Given the description of an element on the screen output the (x, y) to click on. 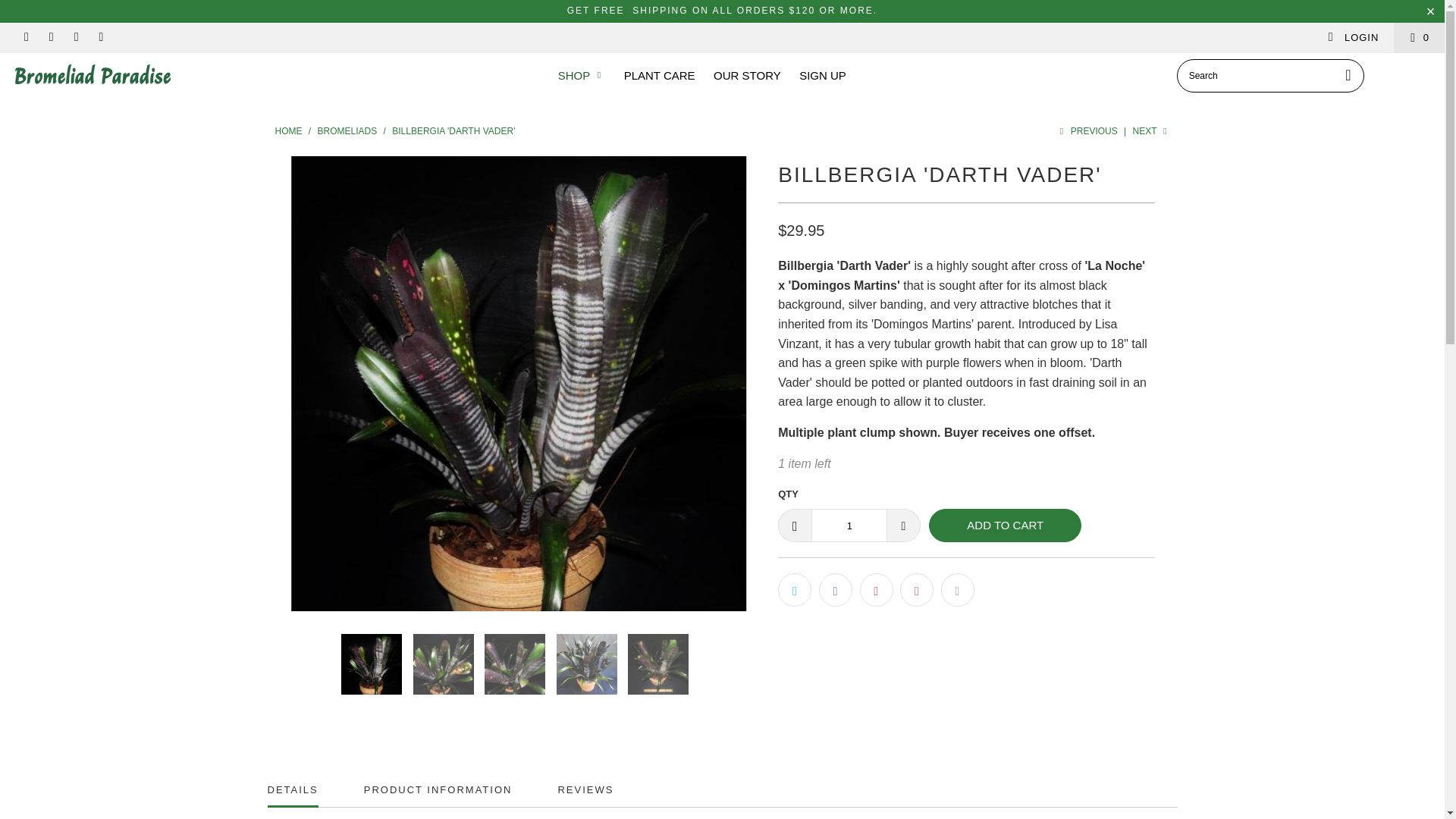
Email Bromeliad Paradise (100, 37)
Next (1151, 131)
Share this on Twitter (793, 589)
Bromeliad Paradise on Facebook (25, 37)
Share this on Facebook (834, 589)
Bromeliads (348, 131)
My Account  (1352, 37)
Bromeliad Paradise (288, 131)
Bromeliad Paradise on Pinterest (50, 37)
Share this on Pinterest (876, 589)
Previous (1086, 131)
Bromeliad Paradise on Instagram (75, 37)
1 (848, 525)
Bromeliad Paradise (122, 74)
